Given the description of an element on the screen output the (x, y) to click on. 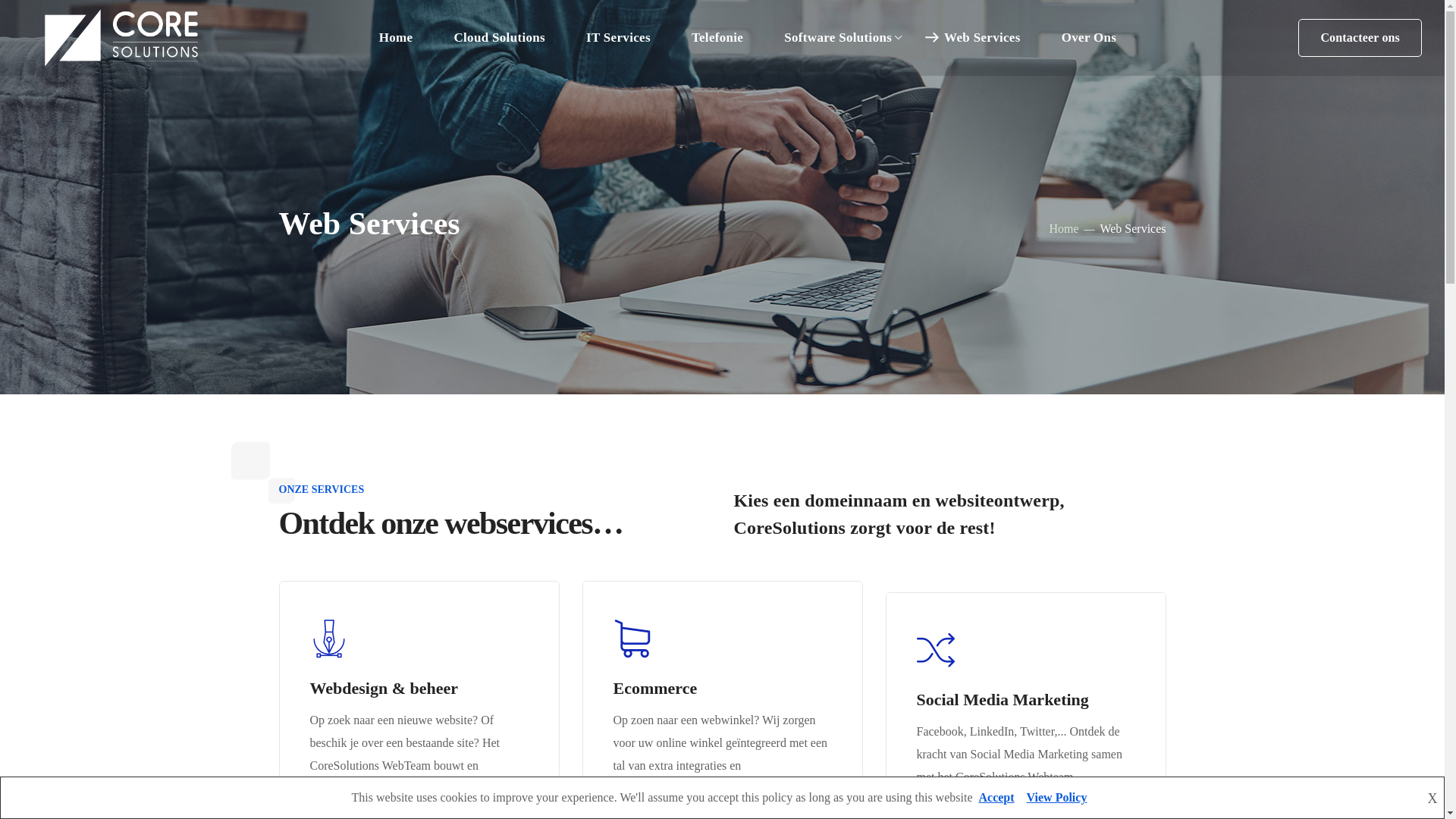
Web Services Element type: text (982, 37)
Over Ons Element type: text (1089, 37)
Telefonie Element type: text (717, 37)
Cloud Solutions Element type: text (499, 37)
Contacteer ons Element type: text (1359, 37)
Home Element type: text (1064, 228)
Accept Element type: text (995, 796)
Home Element type: text (395, 37)
IT Services Element type: text (618, 37)
Software Solutions Element type: text (843, 37)
View Policy Element type: text (1056, 796)
